Given the description of an element on the screen output the (x, y) to click on. 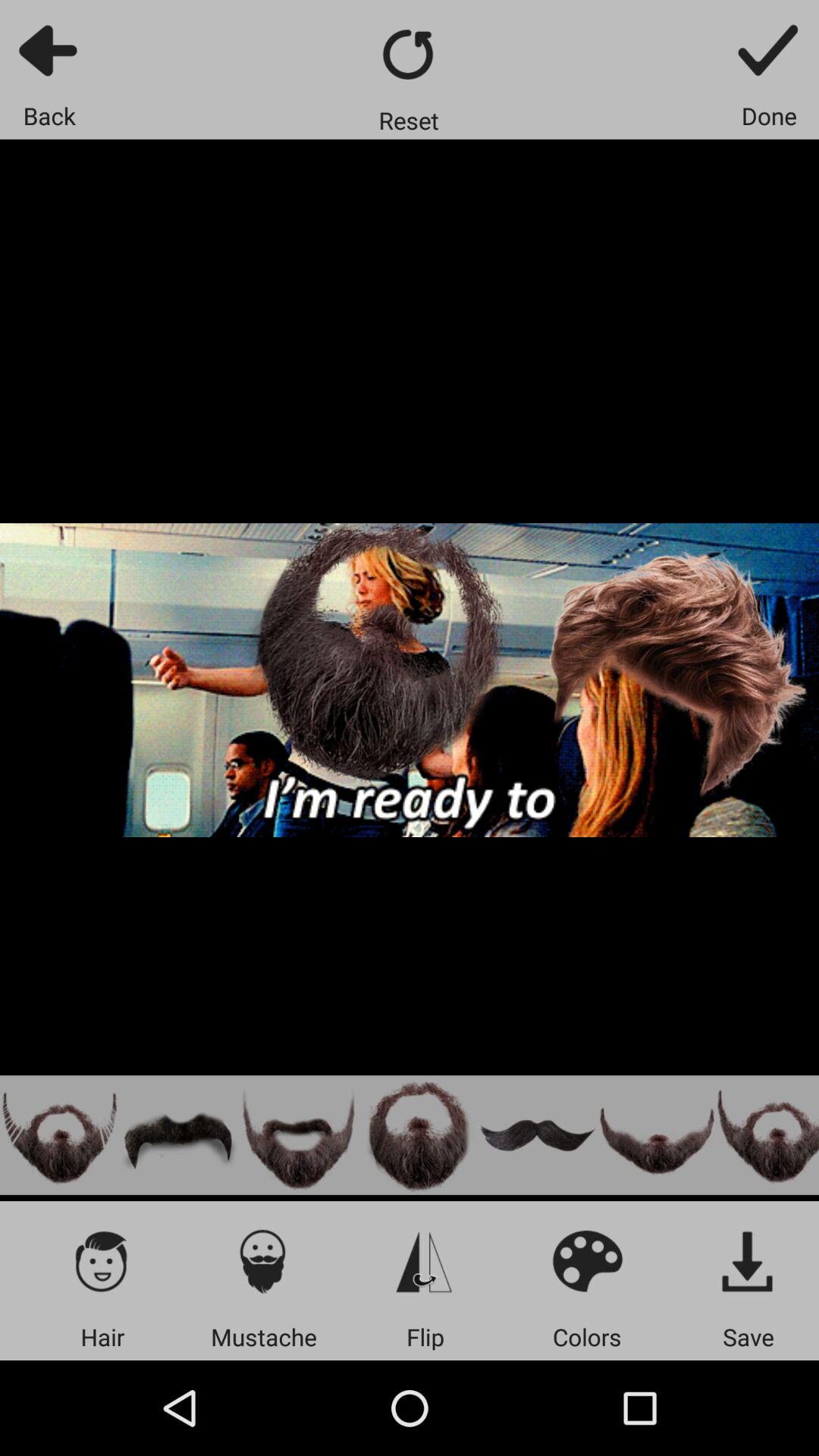
launch icon above flip app (425, 1260)
